Given the description of an element on the screen output the (x, y) to click on. 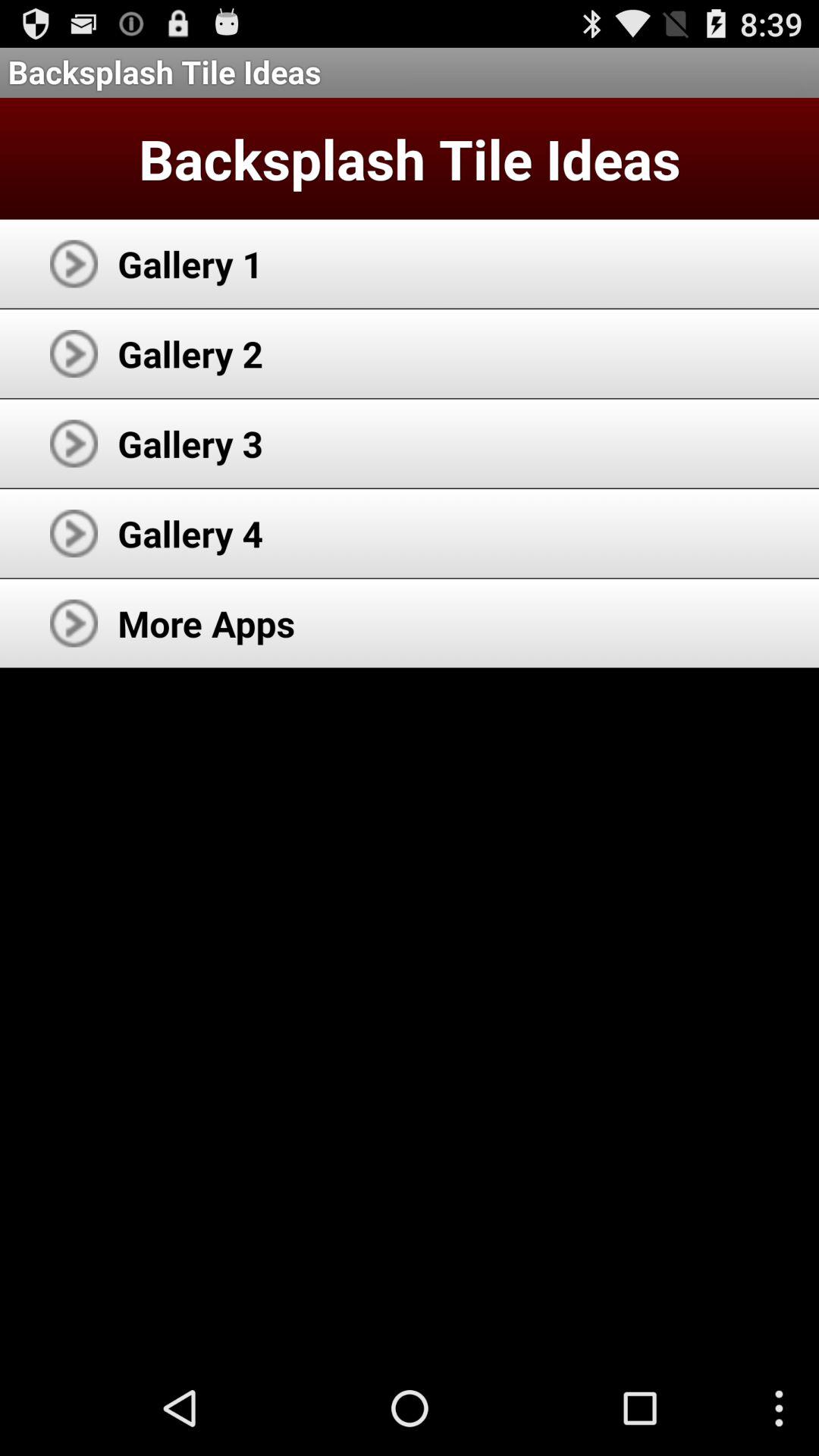
click gallery 4 app (190, 533)
